Given the description of an element on the screen output the (x, y) to click on. 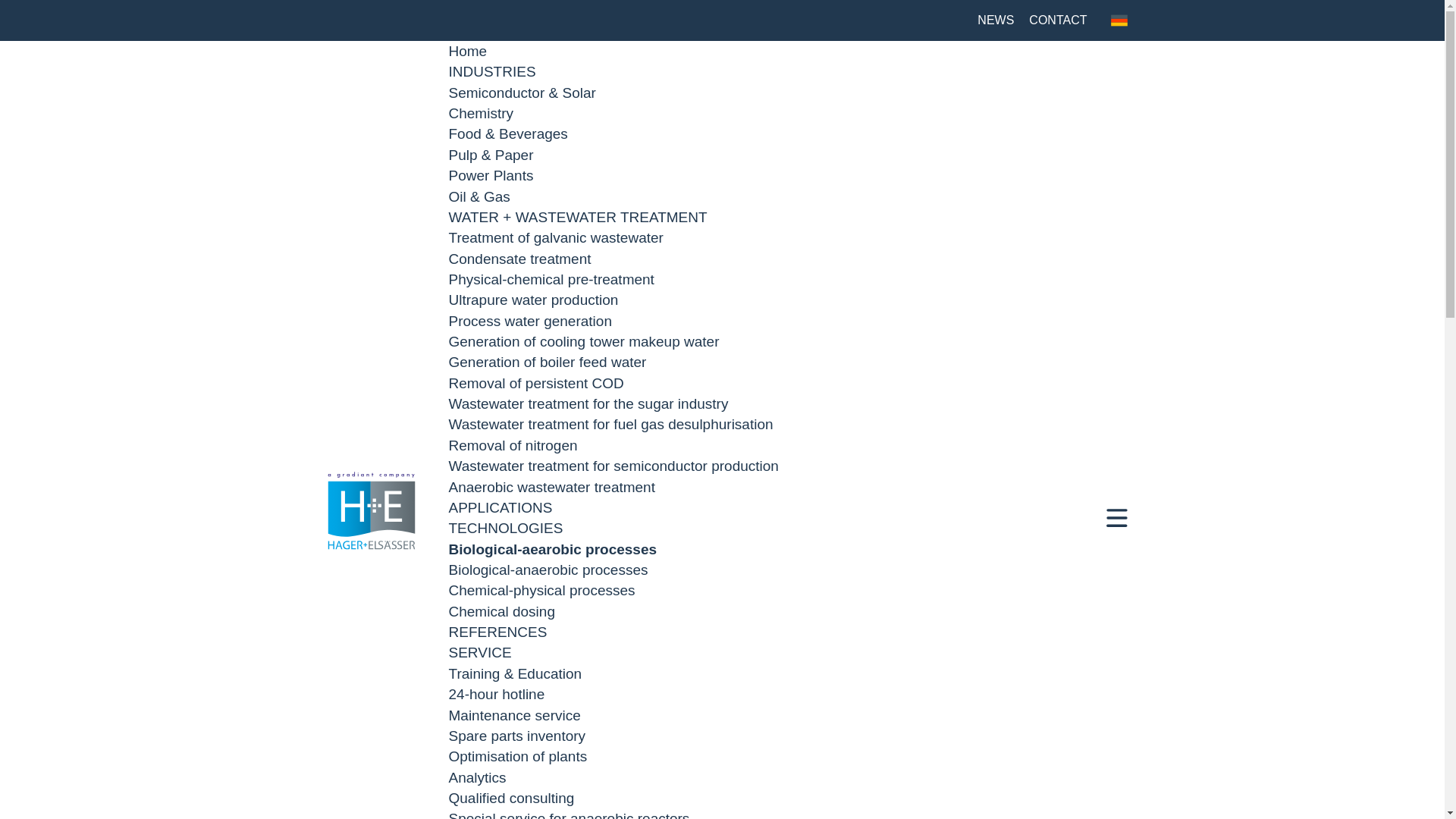
TECHNOLOGIES (505, 528)
INDUSTRIES (491, 71)
Process water generation (529, 320)
Wastewater treatment for the sugar industry (588, 403)
Ultrapure water production (533, 299)
Power Plants (491, 175)
NEWS (994, 19)
Anaerobic wastewater treatment (551, 487)
Condensate treatment (519, 258)
CONTACT (1057, 19)
